Given the description of an element on the screen output the (x, y) to click on. 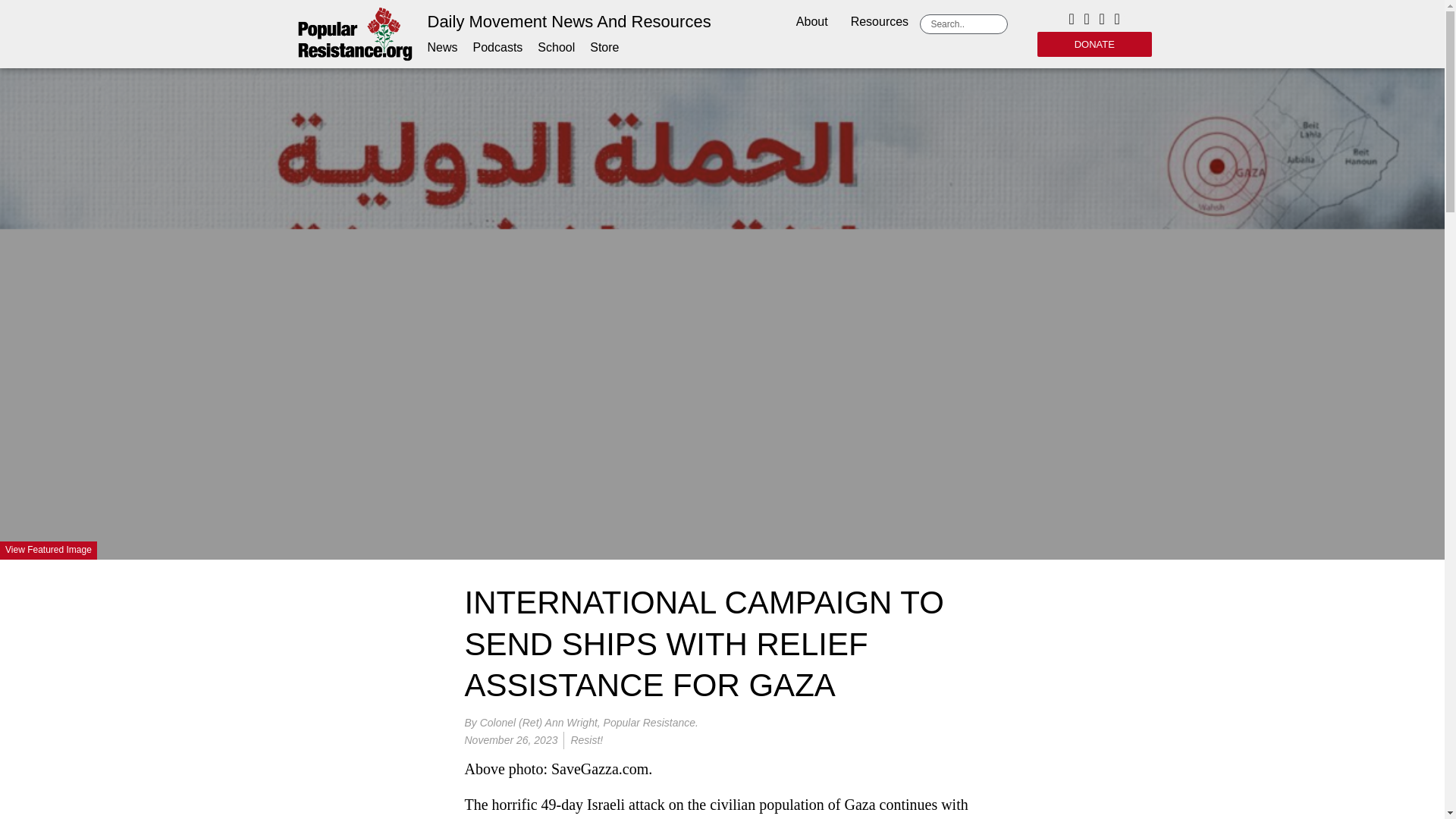
About (812, 22)
Resources (880, 22)
Podcasts (497, 47)
News (443, 47)
Search (966, 24)
School (556, 47)
Store (603, 47)
